Given the description of an element on the screen output the (x, y) to click on. 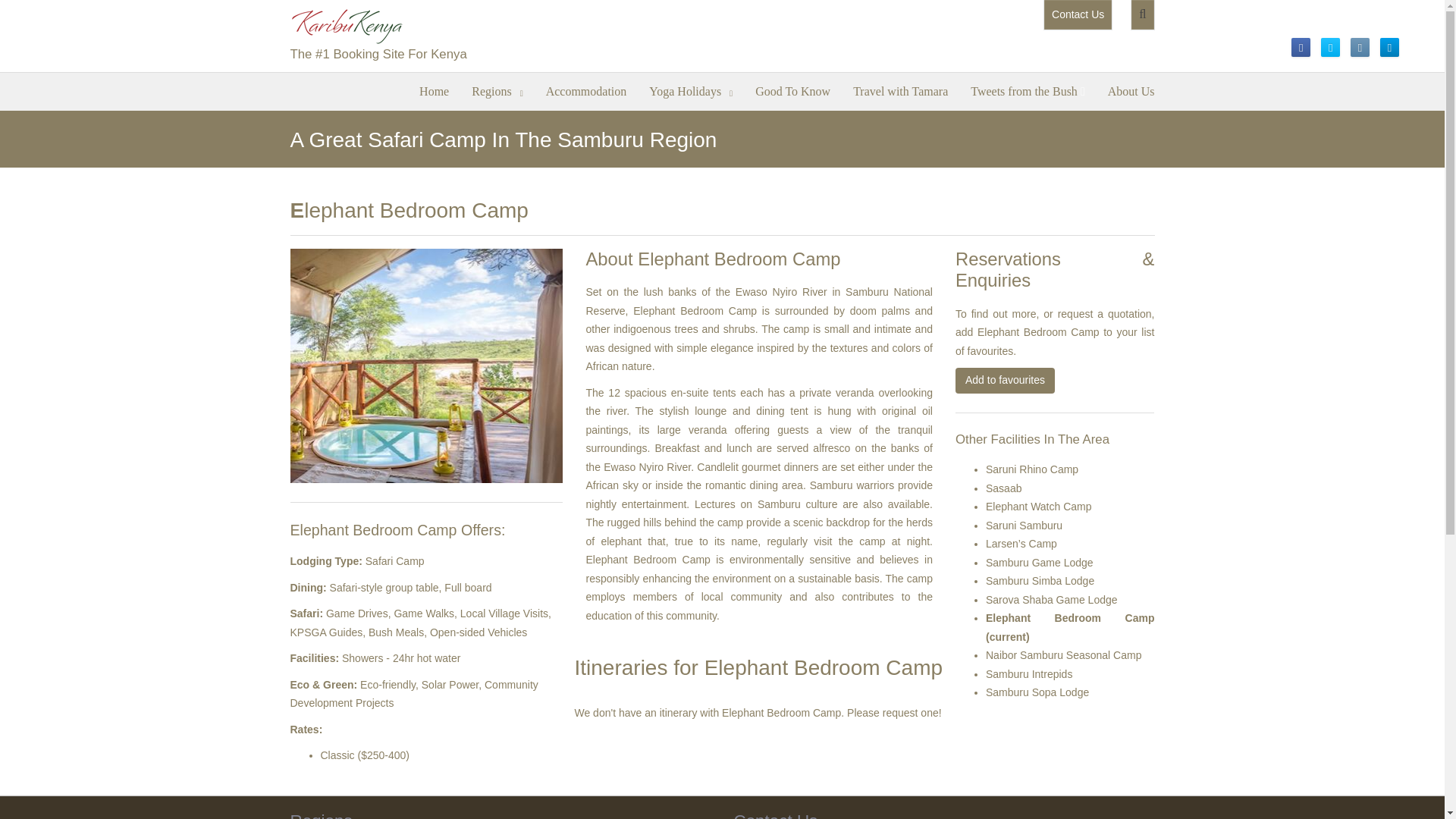
Tweets from the Bush (1027, 90)
Add to favourites (1004, 380)
Yoga Holidays (690, 90)
Saruni Rhino Camp (1031, 469)
About Us (1131, 90)
Accommodation (586, 90)
Good To Know (792, 90)
Home (433, 90)
Travel with Tamara (900, 90)
Regions (497, 90)
